Given the description of an element on the screen output the (x, y) to click on. 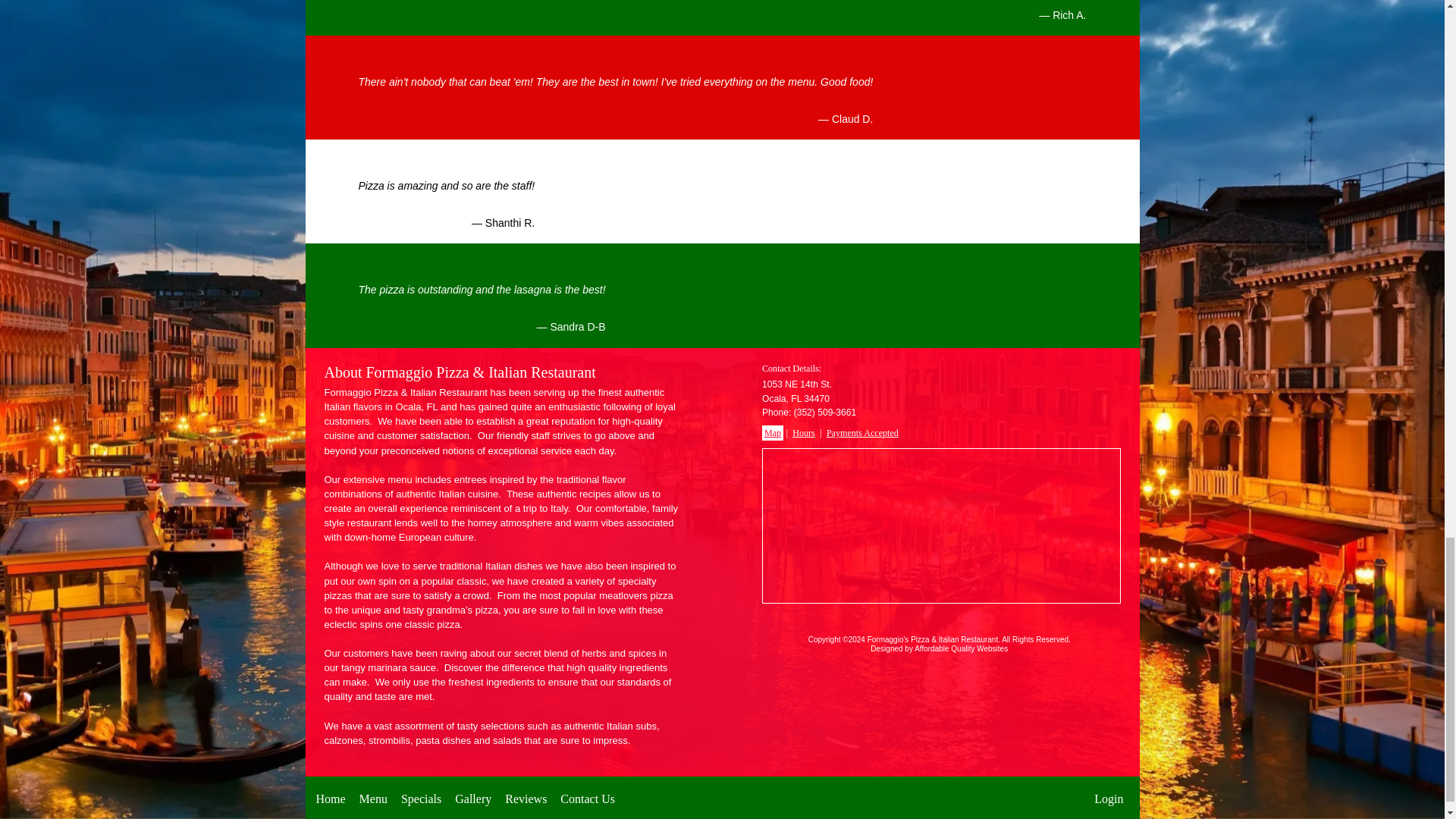
Hours (803, 432)
Login (1108, 797)
Payments Accepted (862, 432)
Contact Us (587, 797)
Home (330, 797)
Gallery (473, 797)
Designed by Affordable Quality Websites (938, 648)
Specials (421, 797)
Reviews (526, 797)
Map (772, 432)
Menu (373, 797)
